Given the description of an element on the screen output the (x, y) to click on. 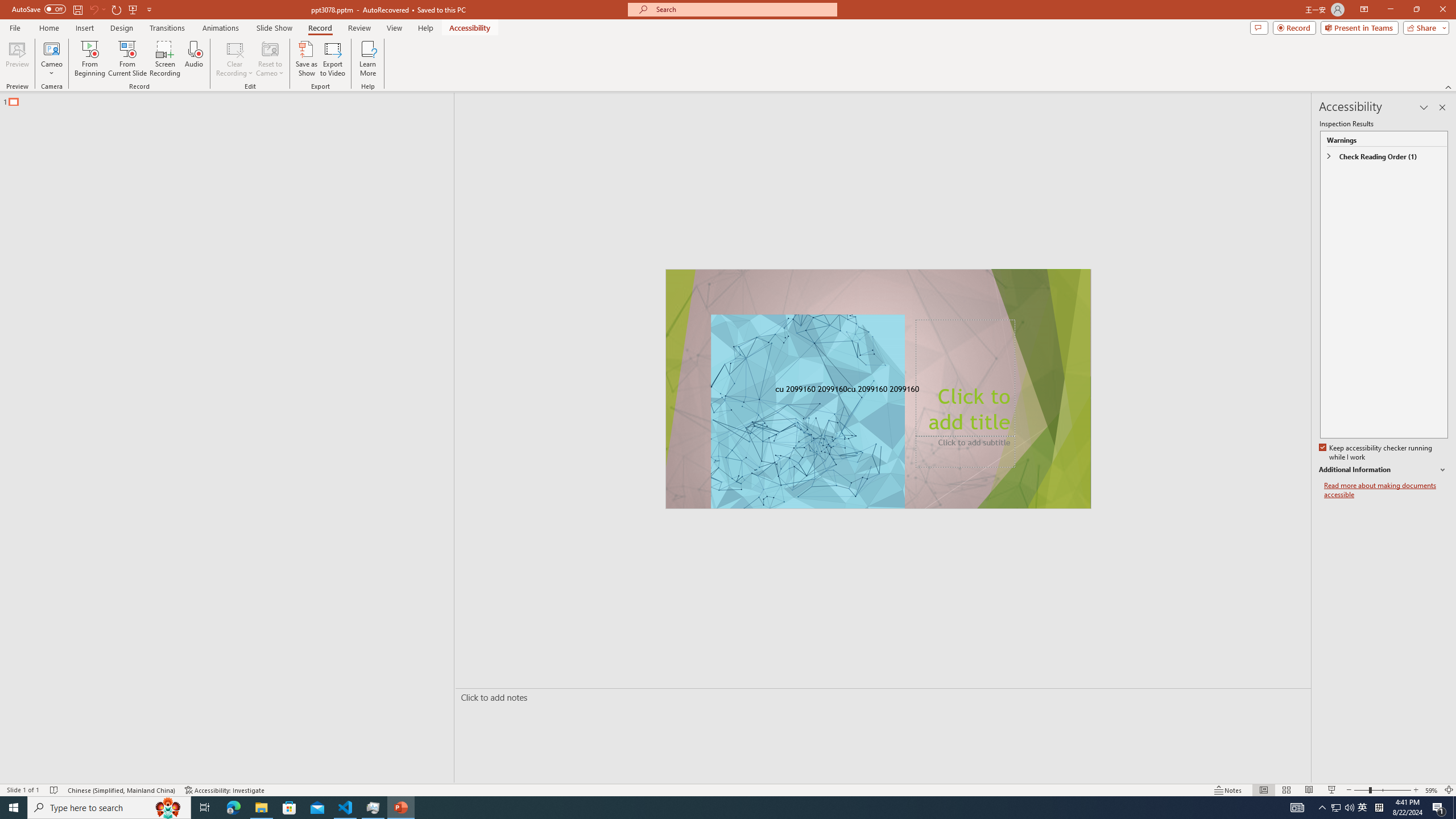
edit (1405, 481)
Poe (842, 800)
(CVPR24)Matching Anything by Segmenting Anything.pdf (1275, 184)
CloudCompare (163, 102)
2311.03658v2.pdf (1210, 254)
